Given the description of an element on the screen output the (x, y) to click on. 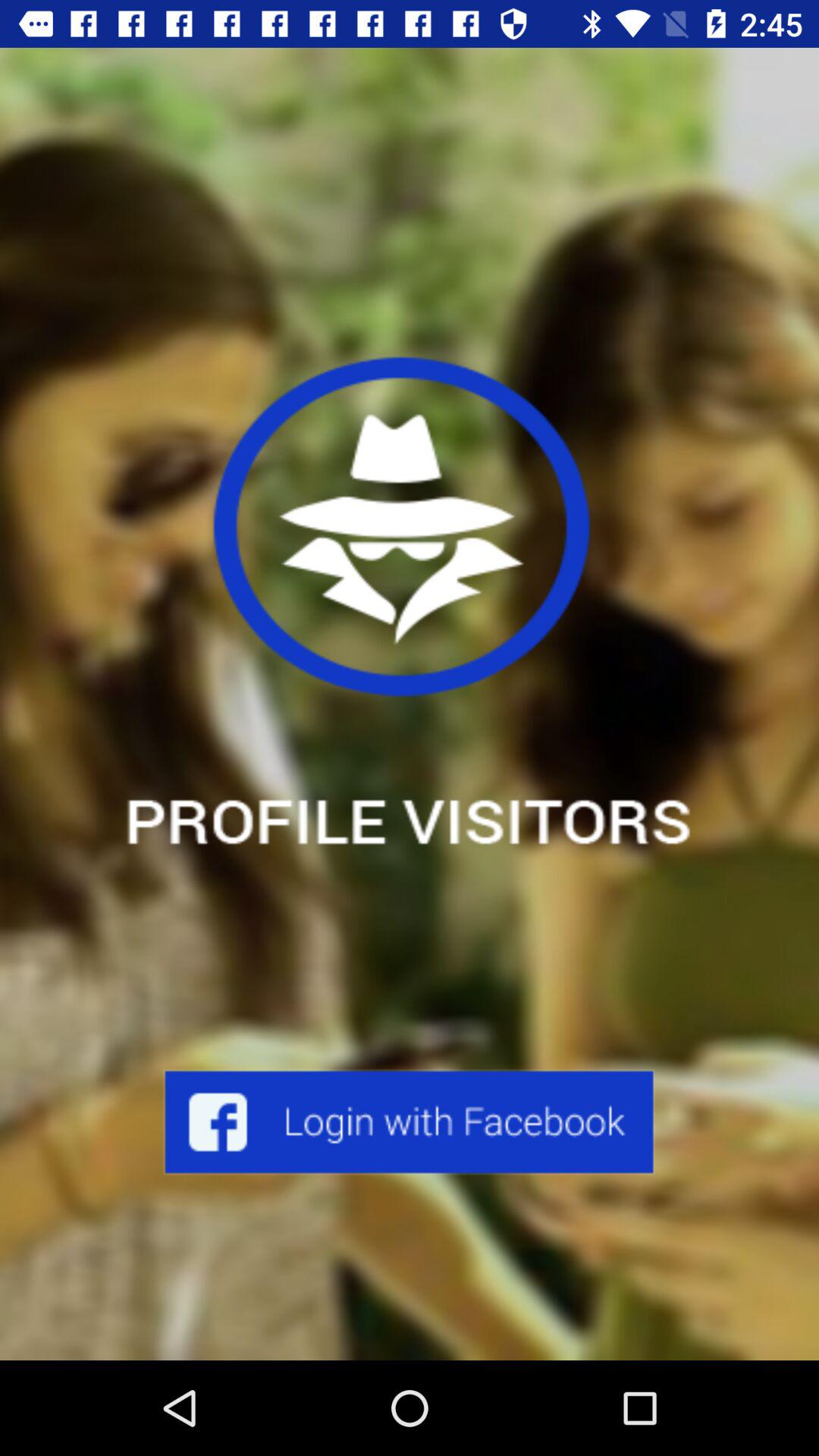
log in with fb (409, 1122)
